Given the description of an element on the screen output the (x, y) to click on. 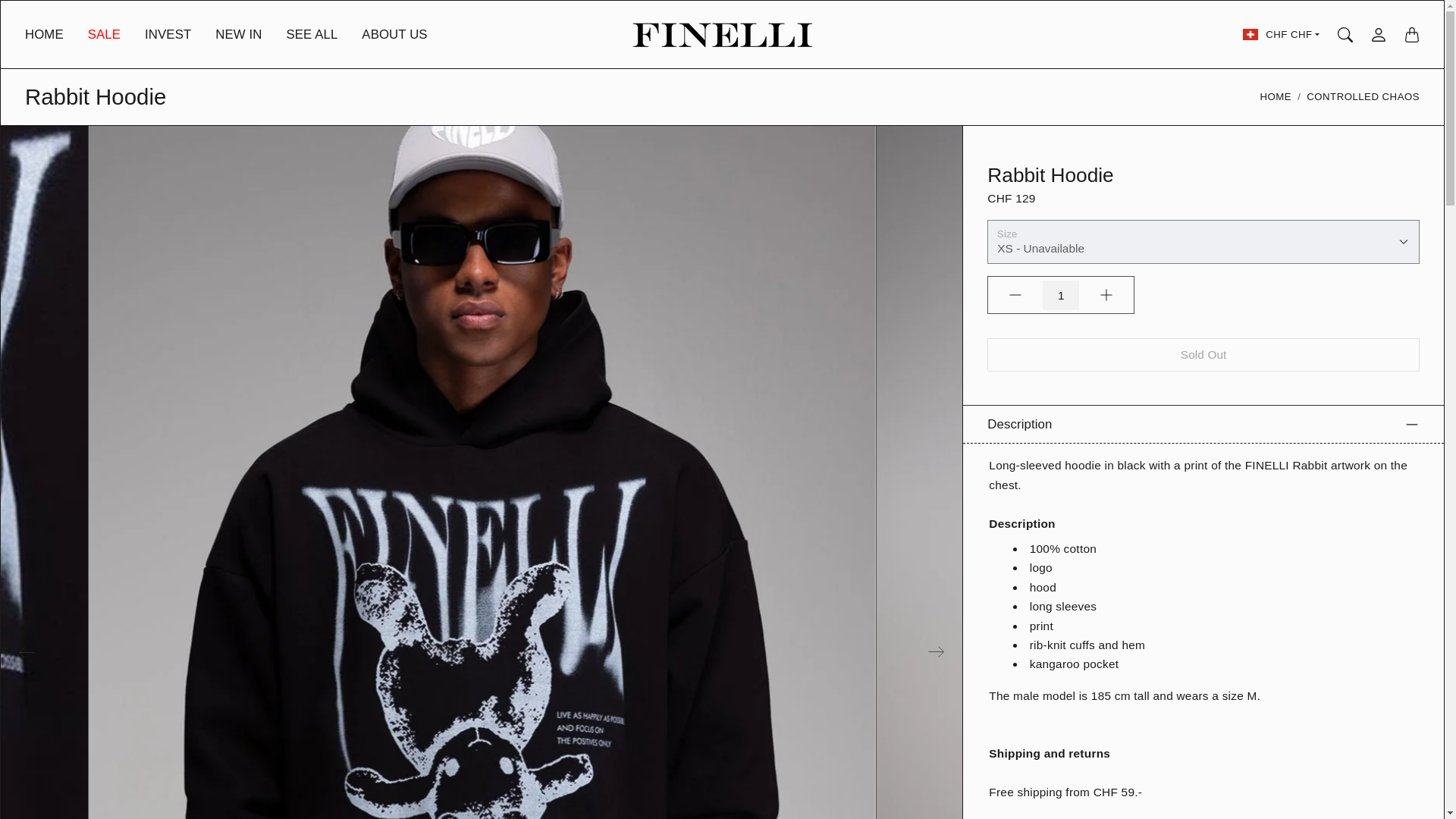
INVEST (167, 46)
1 (1060, 295)
Home (1276, 96)
NEW IN (238, 46)
HOME (44, 46)
